Given the description of an element on the screen output the (x, y) to click on. 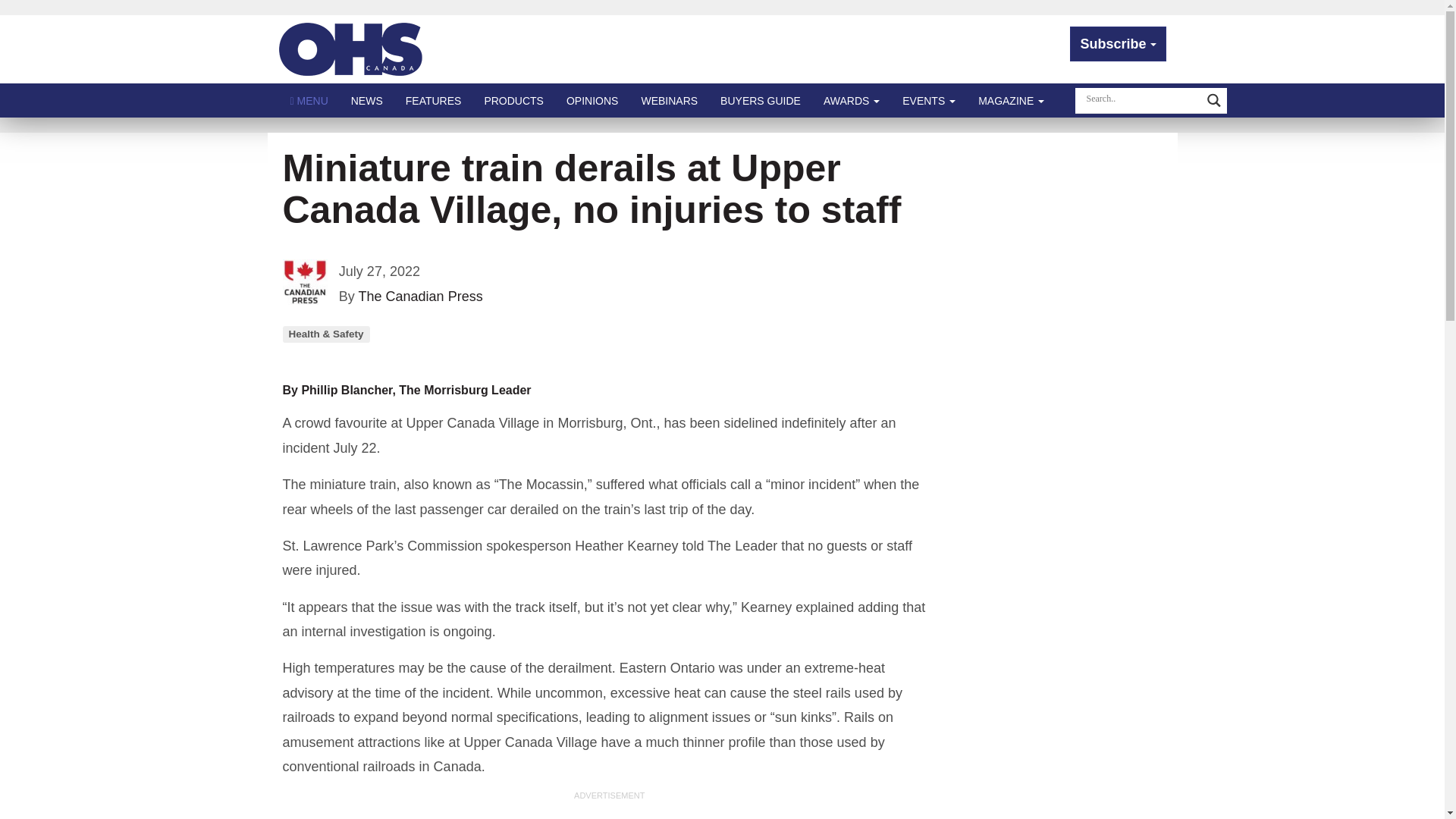
MENU (309, 100)
OHS Canada Magazine (351, 48)
Subscribe (1118, 43)
NEWS (366, 100)
EVENTS (928, 100)
PRODUCTS (512, 100)
BUYERS GUIDE (760, 100)
MAGAZINE (1010, 100)
WEBINARS (668, 100)
FEATURES (433, 100)
Click to show site navigation (309, 100)
OPINIONS (591, 100)
AWARDS (851, 100)
